Given the description of an element on the screen output the (x, y) to click on. 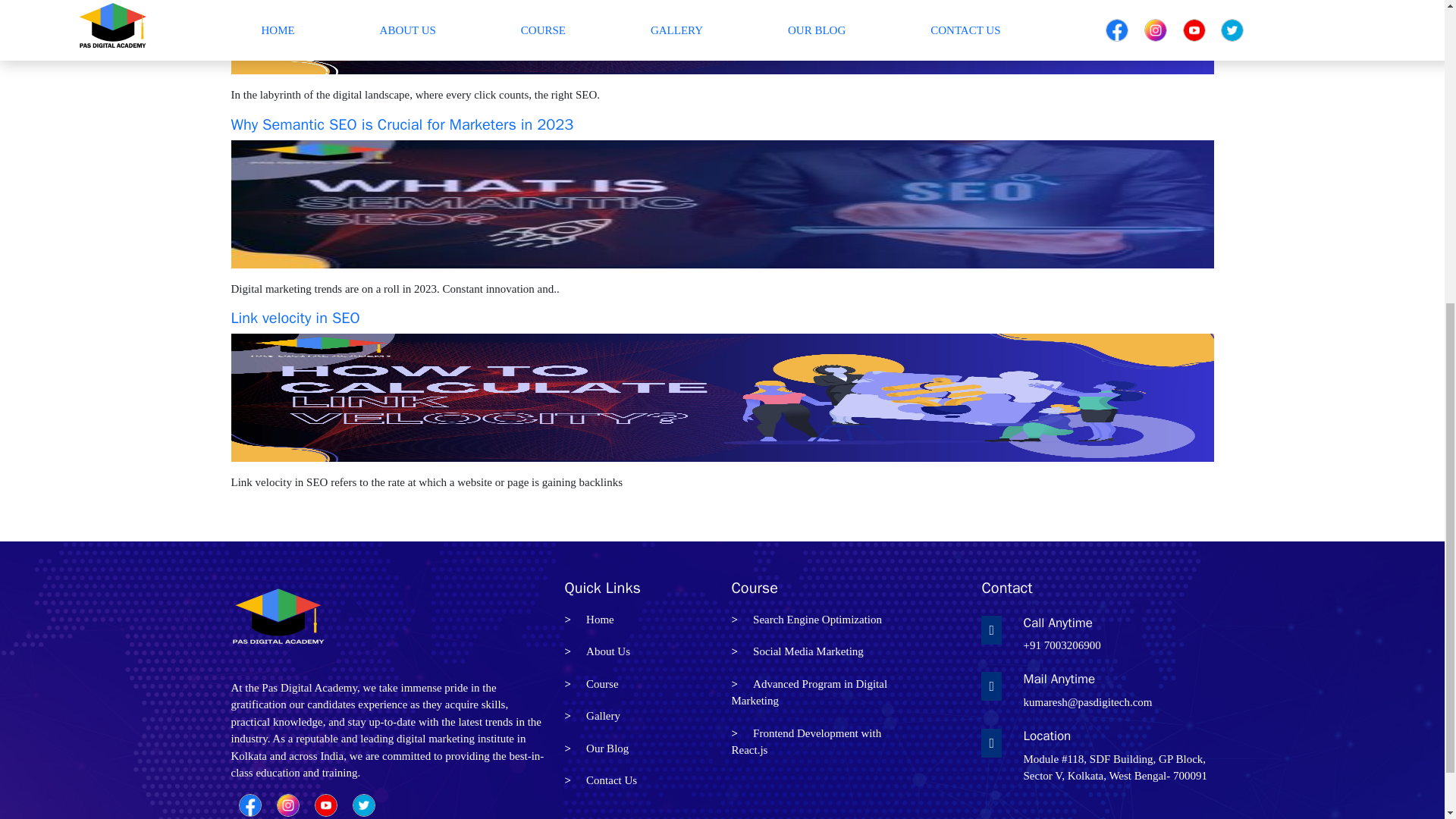
Our Blog (596, 748)
Search Engine Optimization (806, 619)
About Us (596, 651)
Home (805, 741)
Contact Us (588, 619)
Social Media Marketing (600, 779)
Why Semantic SEO is Crucial for Marketers in 2023 (796, 651)
Link velocity in SEO (808, 691)
Gallery (401, 123)
Course (294, 317)
